Given the description of an element on the screen output the (x, y) to click on. 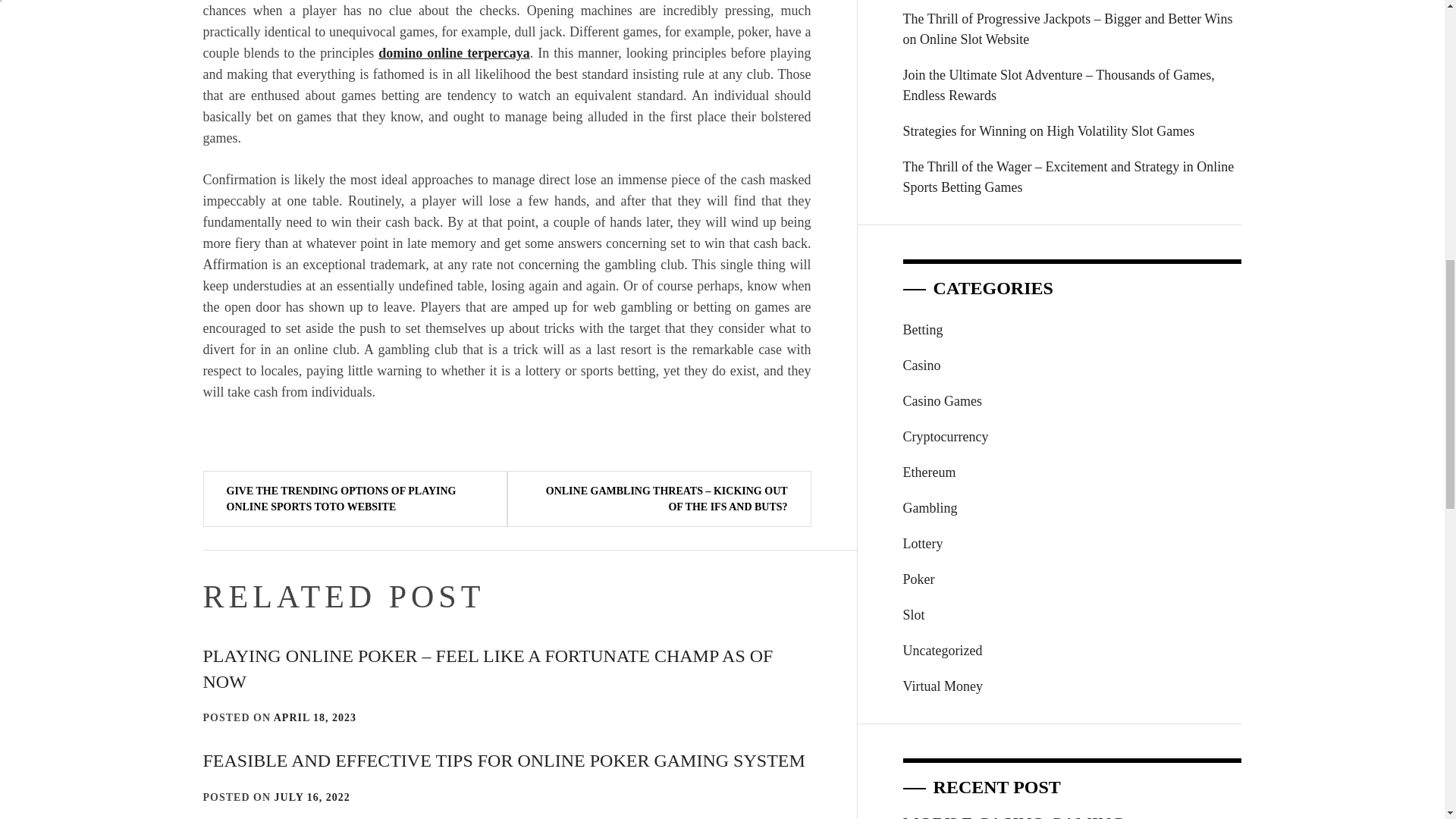
Strategies for Winning on High Volatility Slot Games (1071, 131)
APRIL 18, 2023 (314, 717)
JULY 16, 2022 (312, 797)
Betting (922, 329)
FEASIBLE AND EFFECTIVE TIPS FOR ONLINE POKER GAMING SYSTEM (504, 760)
domino online terpercaya (453, 52)
Casino (921, 365)
